Given the description of an element on the screen output the (x, y) to click on. 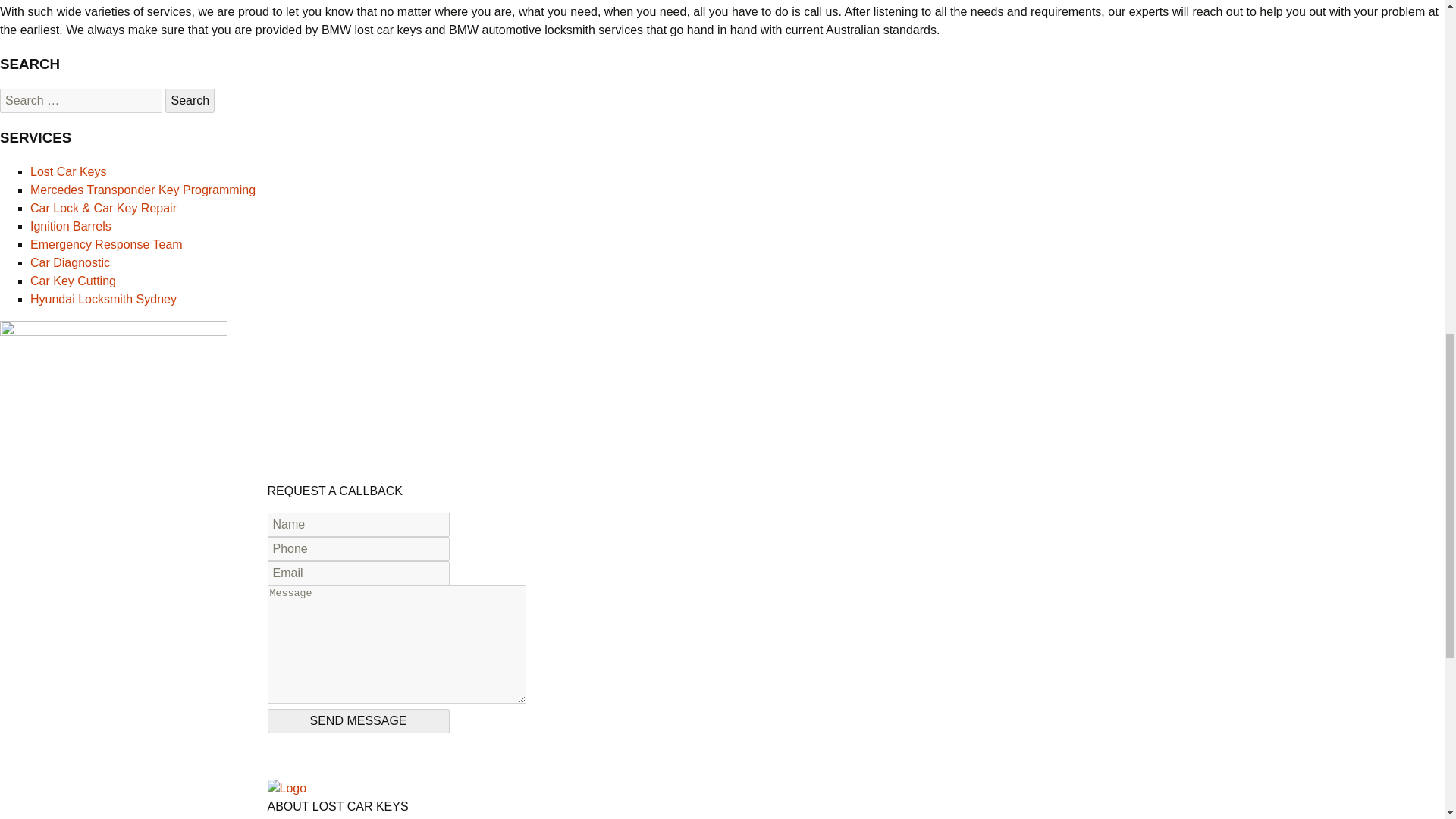
Ignition Barrels (71, 226)
SEND MESSAGE (357, 721)
Mercedes Transponder Key Programming (143, 189)
Search (189, 100)
Search (189, 100)
SEND MESSAGE (357, 721)
Search (189, 100)
Emergency Response Team (106, 244)
Lost Car Keys (68, 171)
Hyundai Locksmith Sydney (103, 298)
